Given the description of an element on the screen output the (x, y) to click on. 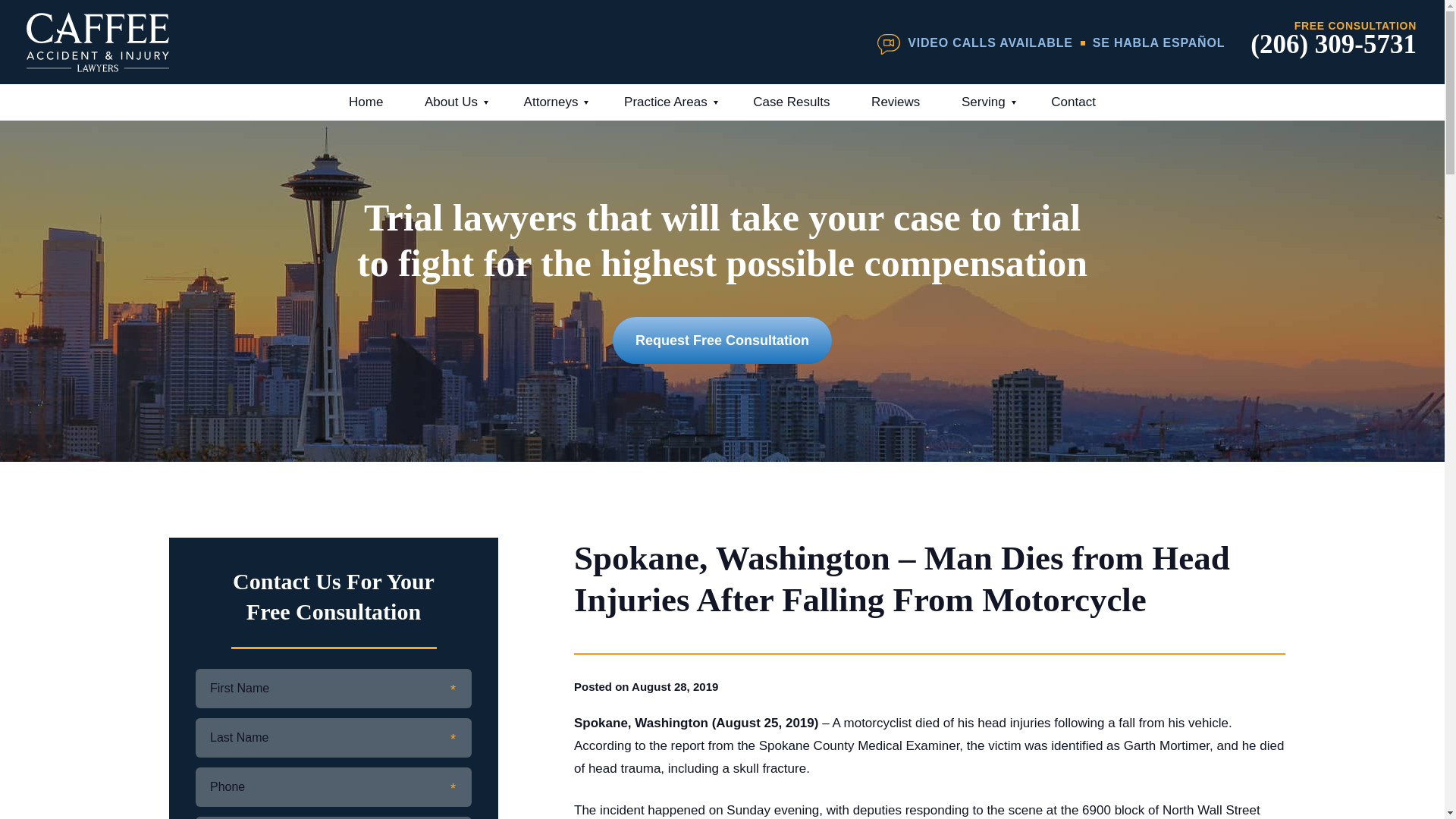
Request Free Consultation (721, 339)
Case Results (790, 102)
Contact (1073, 102)
Reviews (895, 102)
Practice Areas (667, 102)
About Us (453, 102)
Attorneys (553, 102)
Home (365, 102)
Serving (985, 102)
